Given the description of an element on the screen output the (x, y) to click on. 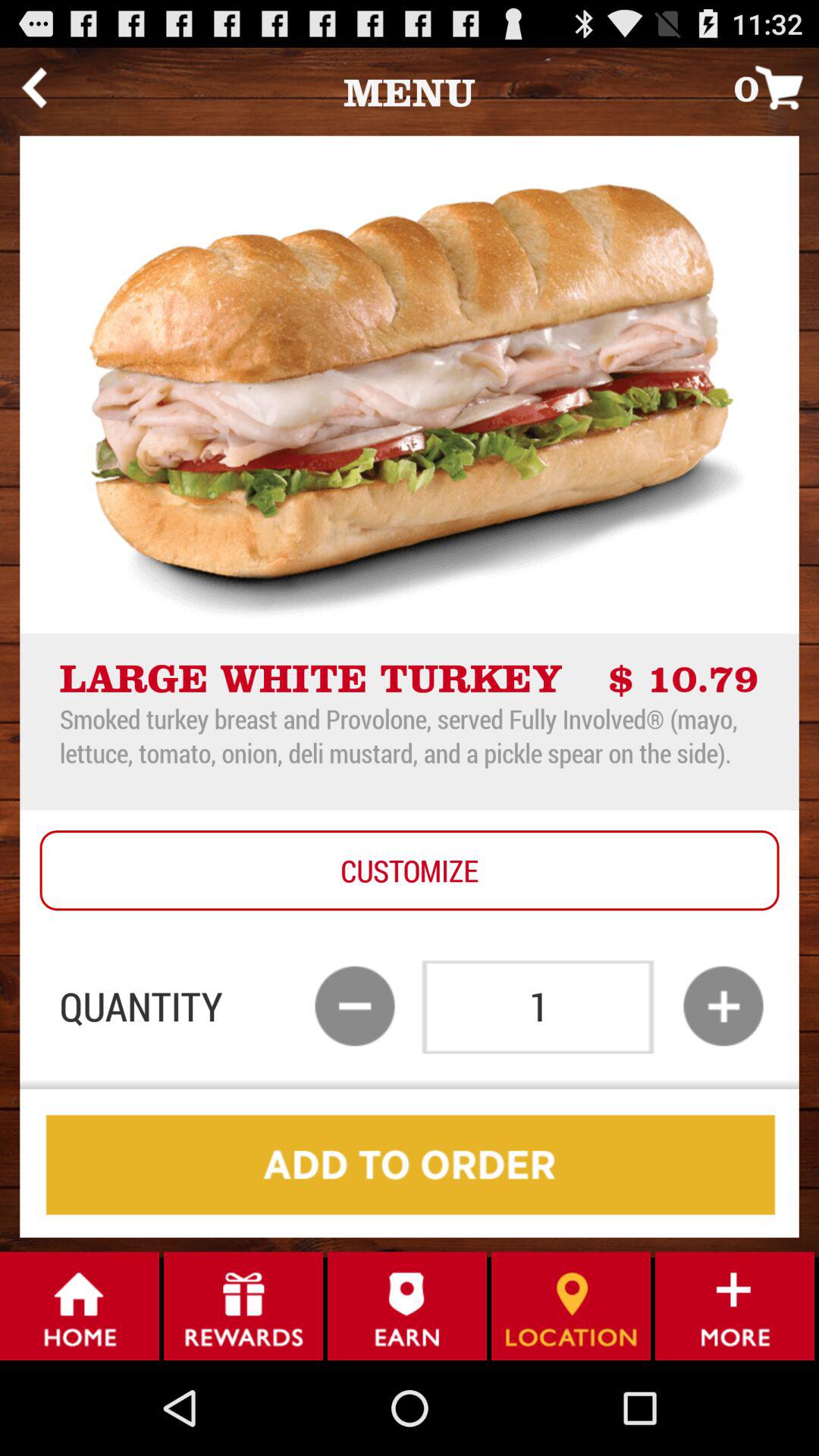
open the icon next to the menu icon (33, 87)
